Given the description of an element on the screen output the (x, y) to click on. 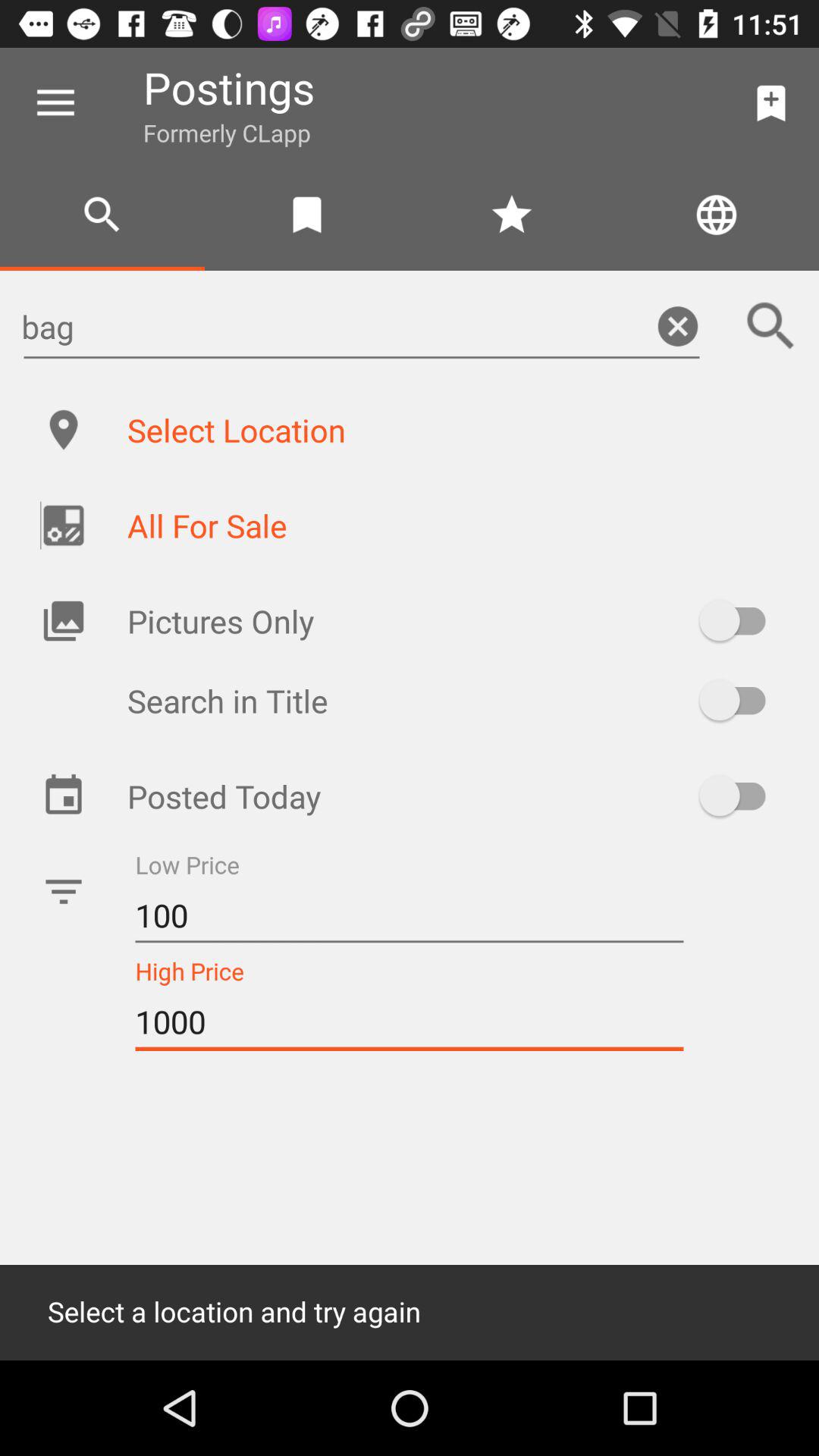
toggle pictures only (739, 620)
